Given the description of an element on the screen output the (x, y) to click on. 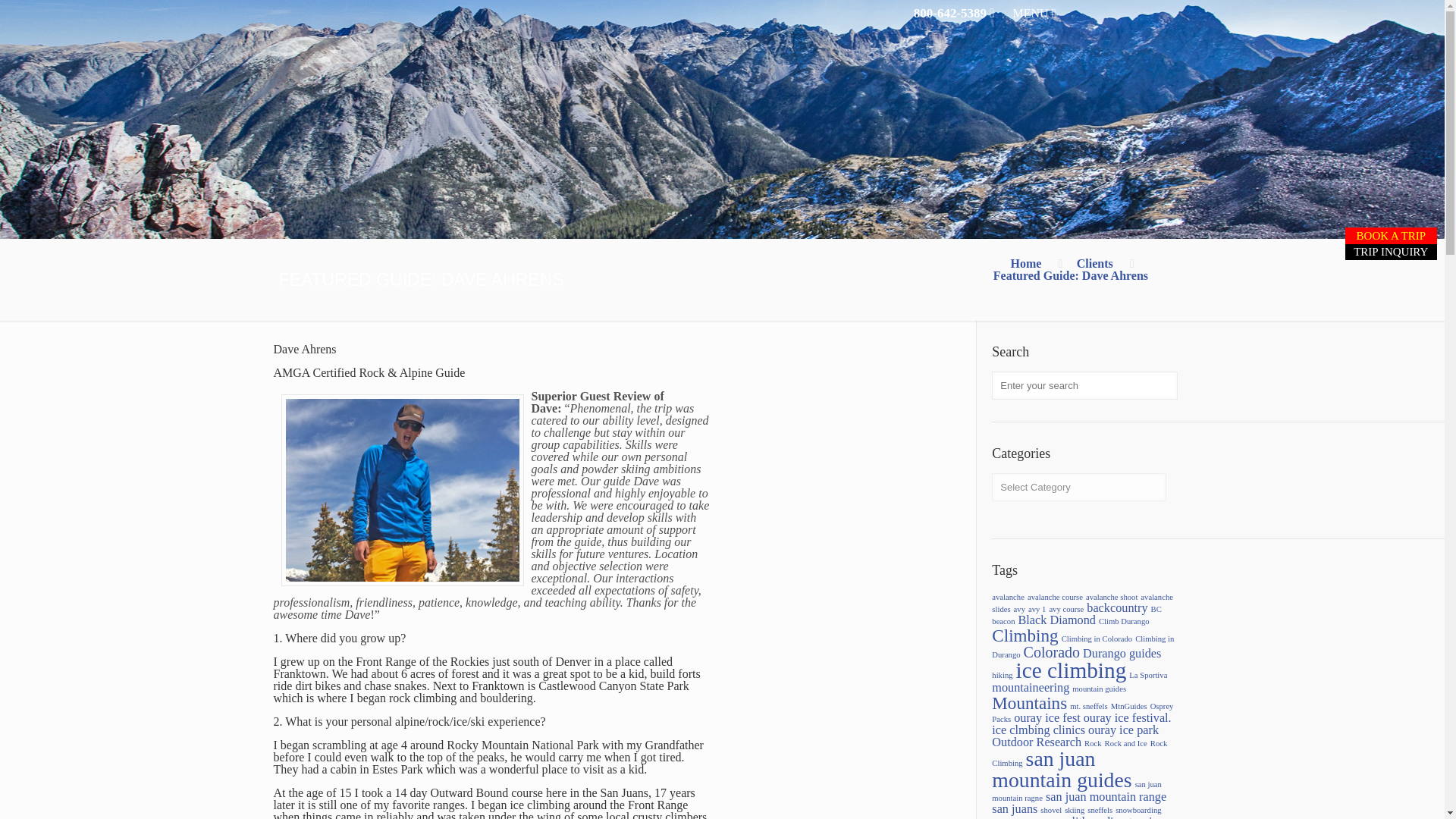
800-642-5389 (954, 12)
MENU (1035, 12)
pafn-trigger-overlay (1035, 12)
